Given the description of an element on the screen output the (x, y) to click on. 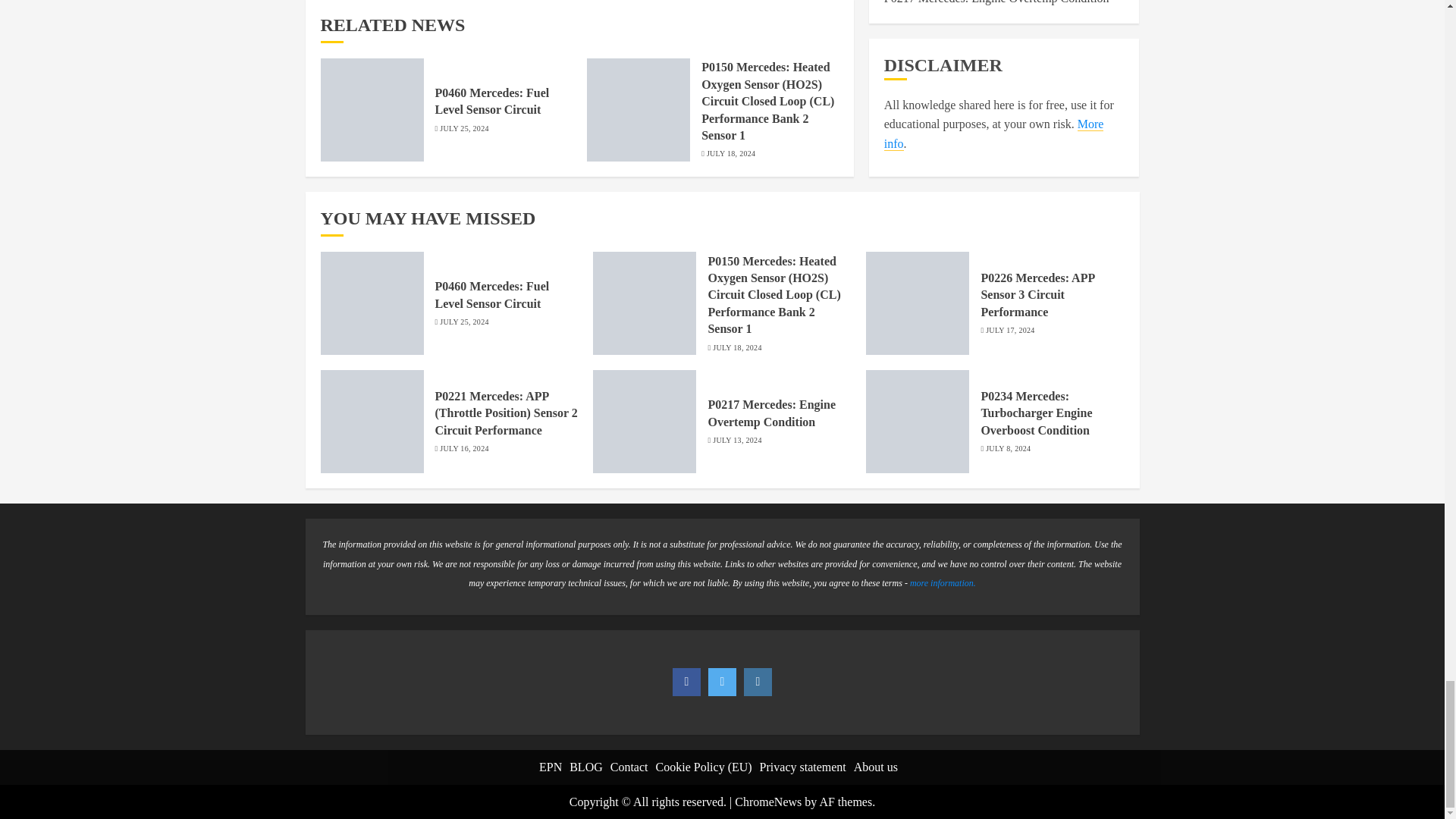
JULY 25, 2024 (463, 128)
JULY 18, 2024 (730, 153)
P0460 Mercedes: Fuel Level Sensor Circuit (492, 101)
